Given the description of an element on the screen output the (x, y) to click on. 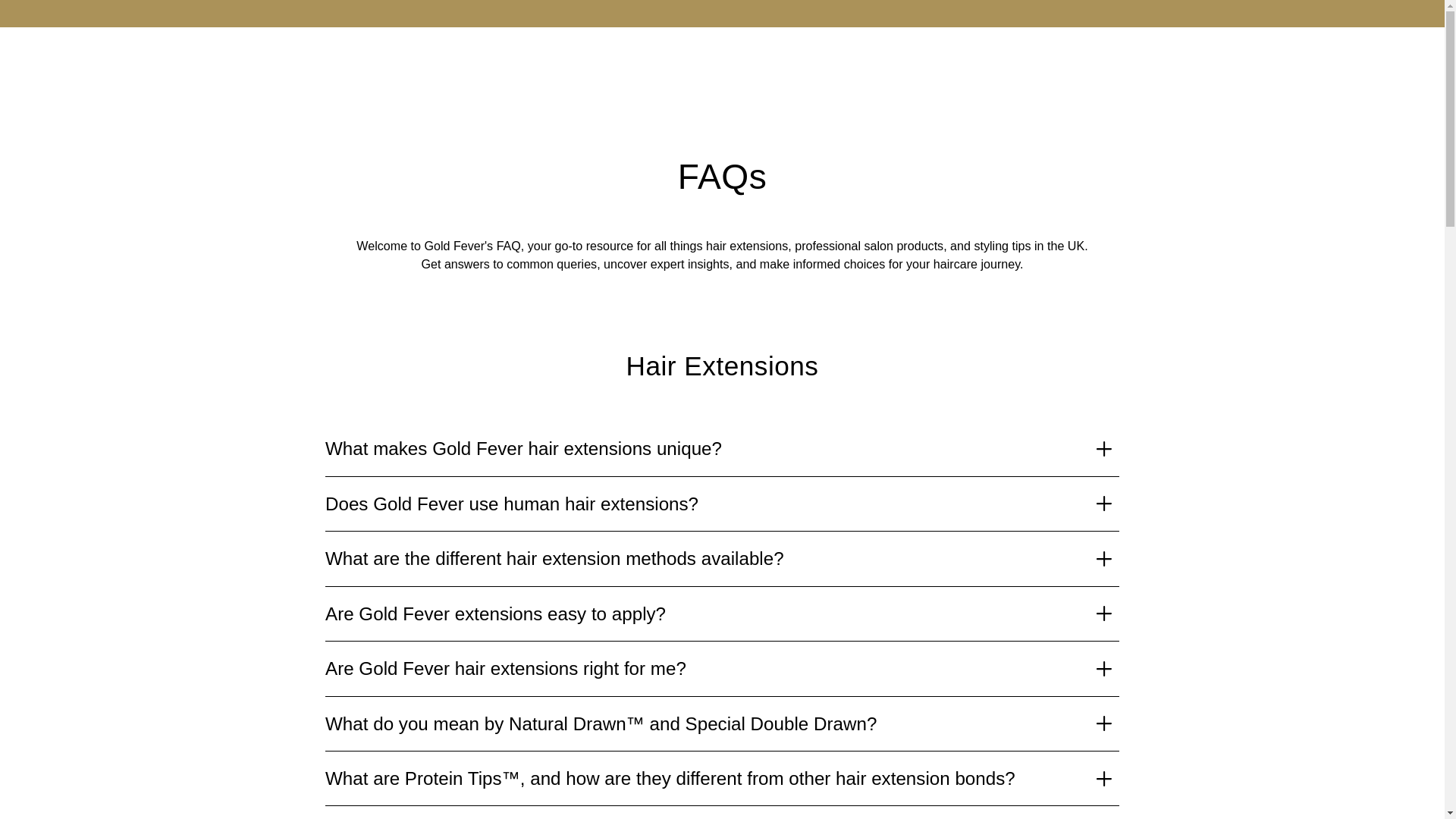
Your Hair (663, 73)
Education (766, 73)
Hair Tales (969, 73)
Search (1366, 72)
Shop (460, 73)
Salon Locator (562, 73)
Gold Fever (860, 73)
